Given the description of an element on the screen output the (x, y) to click on. 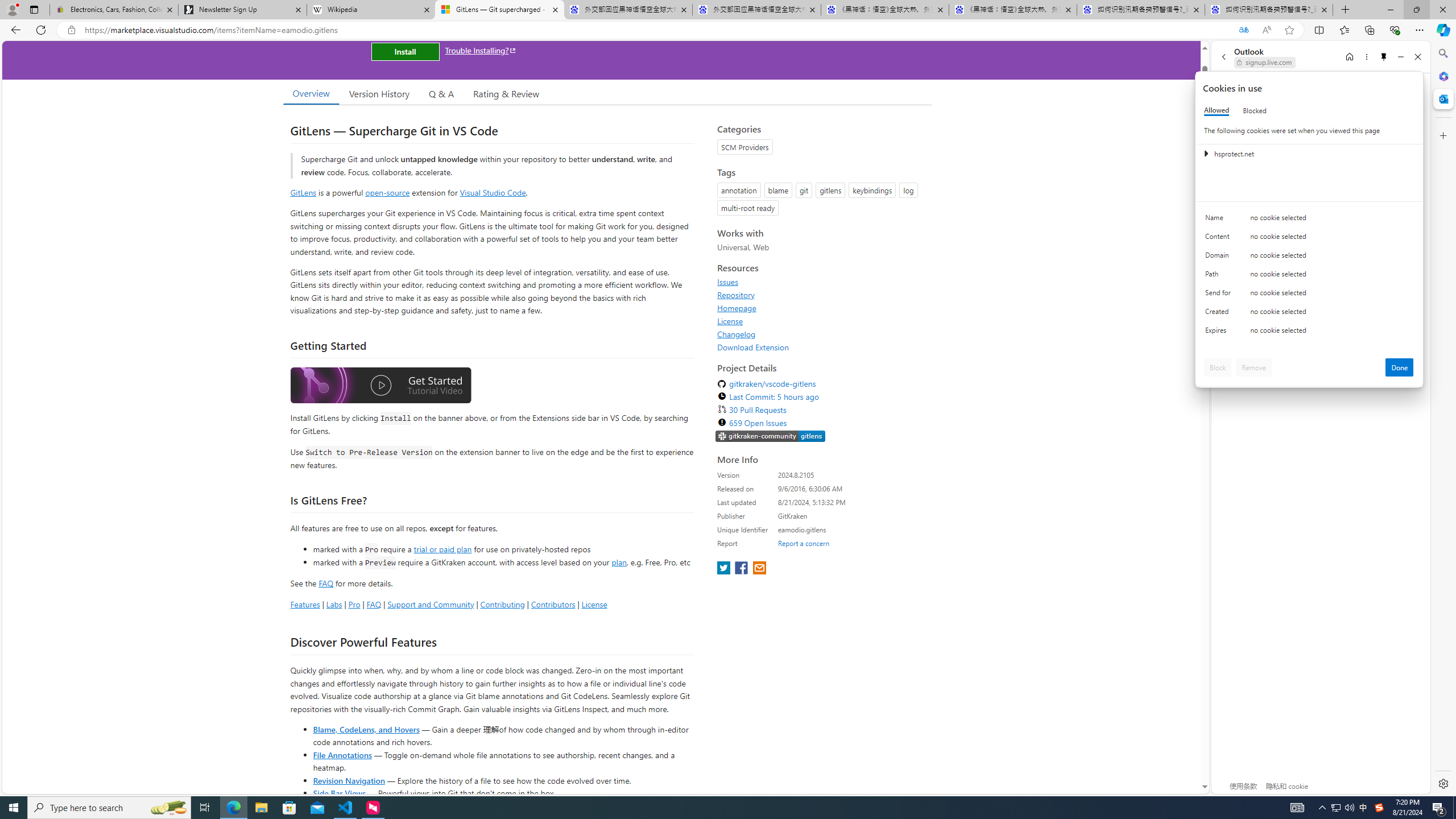
Blocked (1255, 110)
Done (1399, 367)
Send for (1219, 295)
Created (1219, 313)
Allowed (1216, 110)
Remove (1253, 367)
Expires (1219, 332)
Name (1219, 220)
Content (1219, 239)
Class: c0153 c0157 (1309, 332)
no cookie selected (1331, 332)
Domain (1219, 257)
Block (1217, 367)
Path (1219, 276)
Class: c0153 c0157 c0154 (1309, 220)
